Given the description of an element on the screen output the (x, y) to click on. 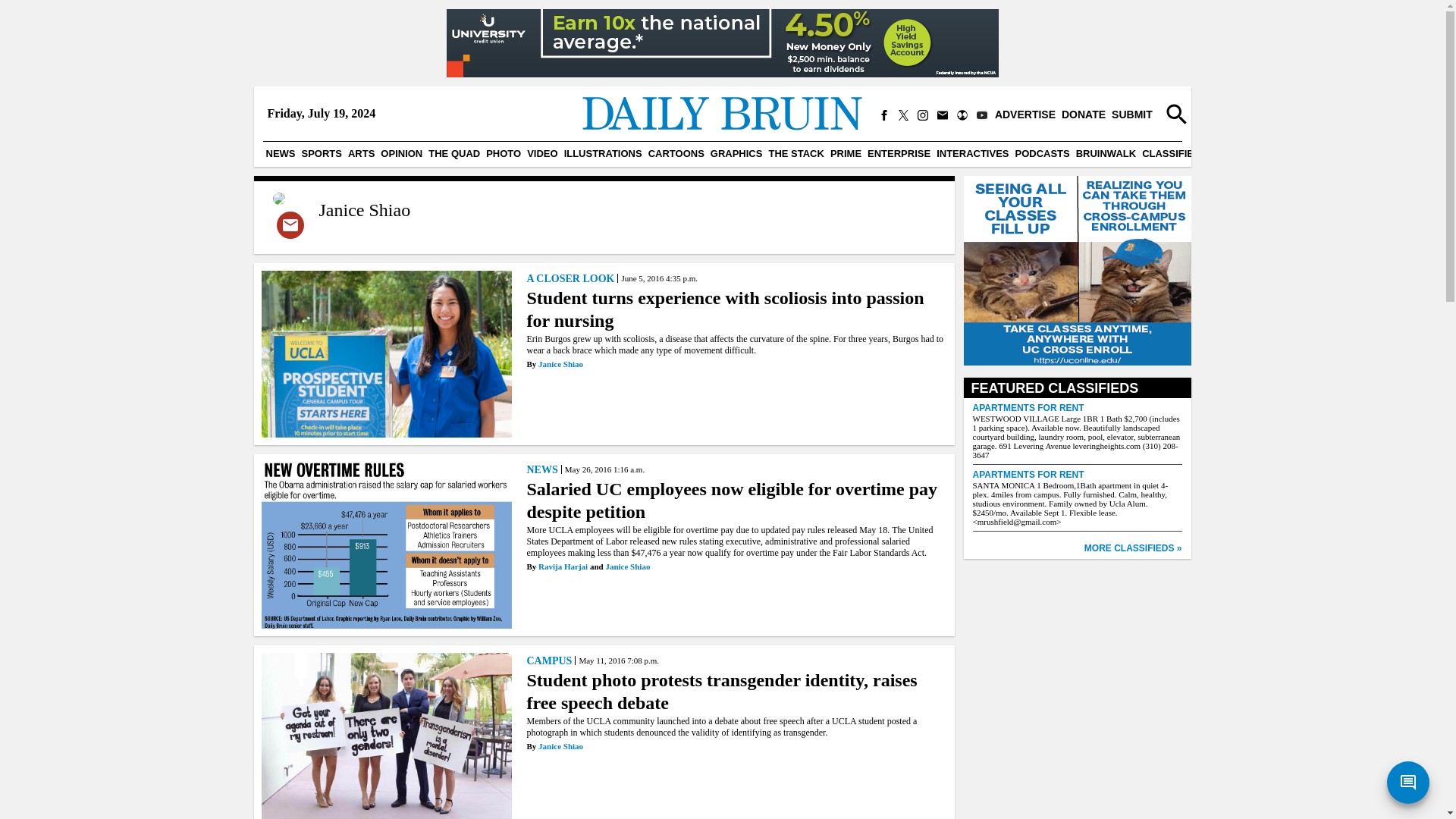
PRIME (845, 153)
SUBMIT (1132, 114)
Cross Enroll Bruinwalk Rectangle (1076, 272)
CARTOONS (676, 153)
PHOTO (503, 153)
INTERACTIVES (972, 153)
Janice Shiao (560, 363)
VIDEO (542, 153)
OPINION (401, 153)
DONATE (1083, 114)
NEWS (542, 468)
ENTERPRISE (898, 153)
PODCASTS (1041, 153)
THE STACK (796, 153)
